Given the description of an element on the screen output the (x, y) to click on. 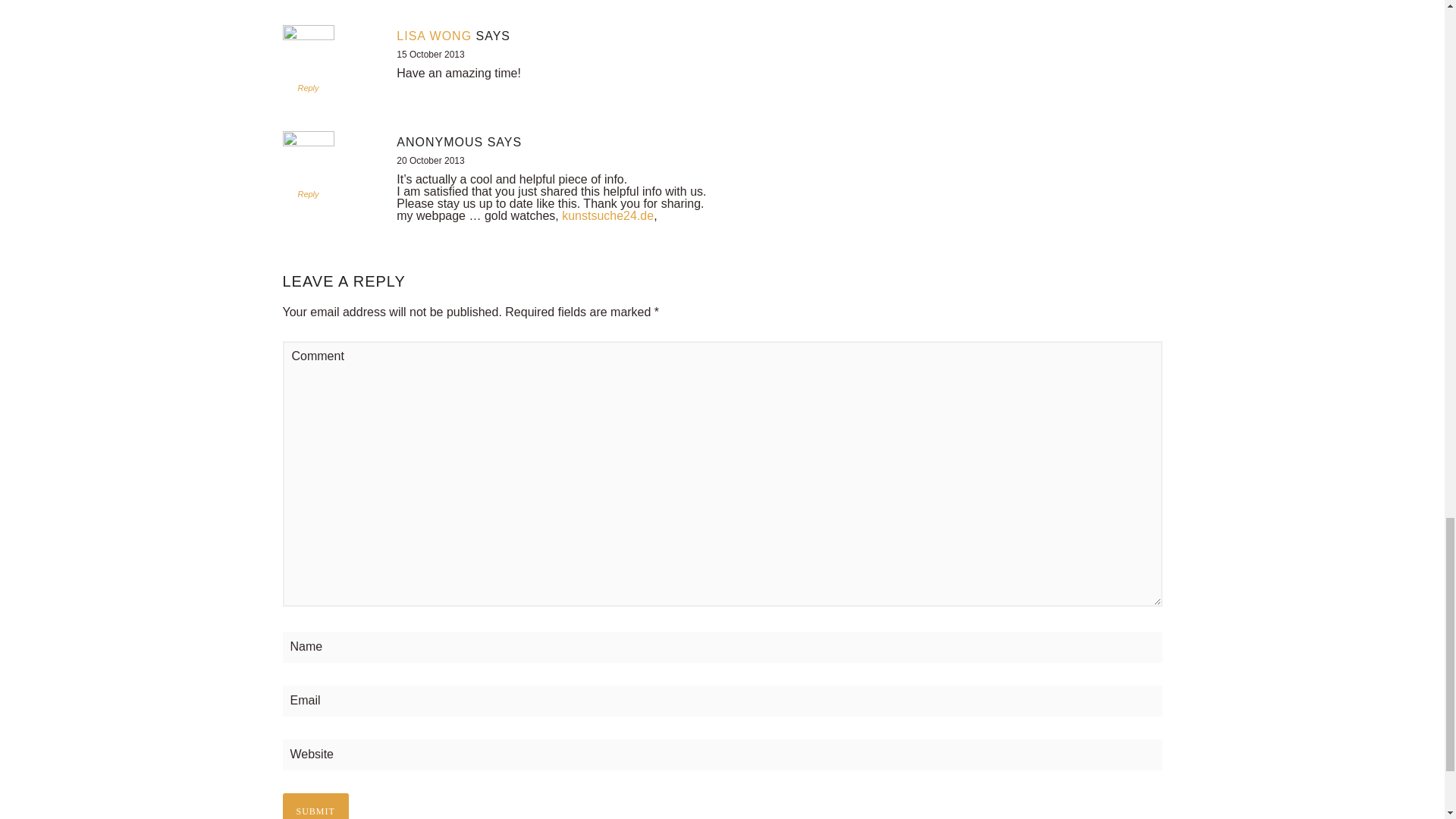
Submit (314, 806)
Reply (307, 194)
kunstsuche24.de (607, 215)
Submit (314, 806)
LISA WONG (433, 35)
Reply (307, 87)
